Given the description of an element on the screen output the (x, y) to click on. 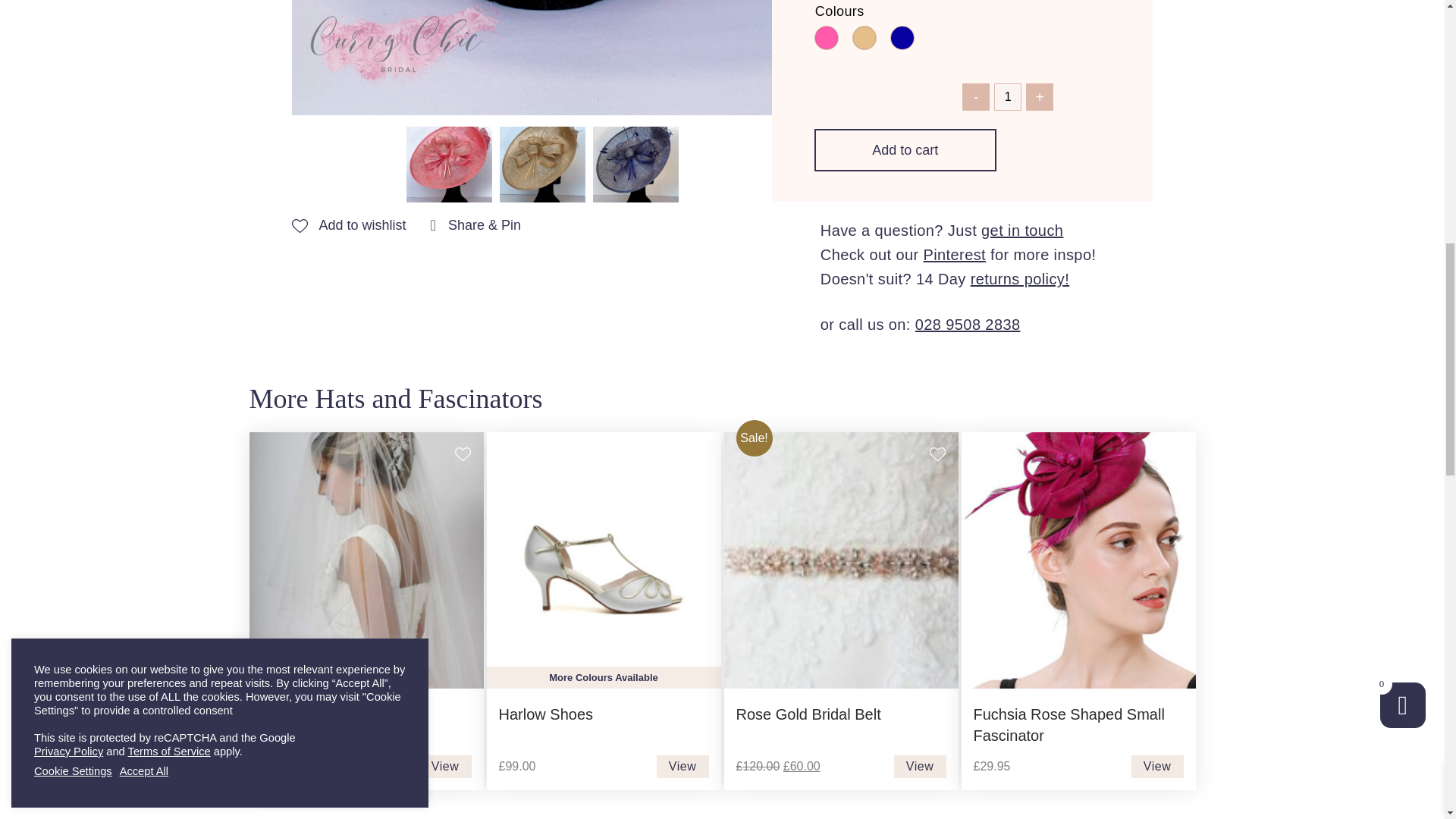
Pale Gold (864, 37)
Sapphire (902, 37)
Qty (1008, 96)
Fluorescent Pink (826, 37)
1 (1008, 96)
